Given the description of an element on the screen output the (x, y) to click on. 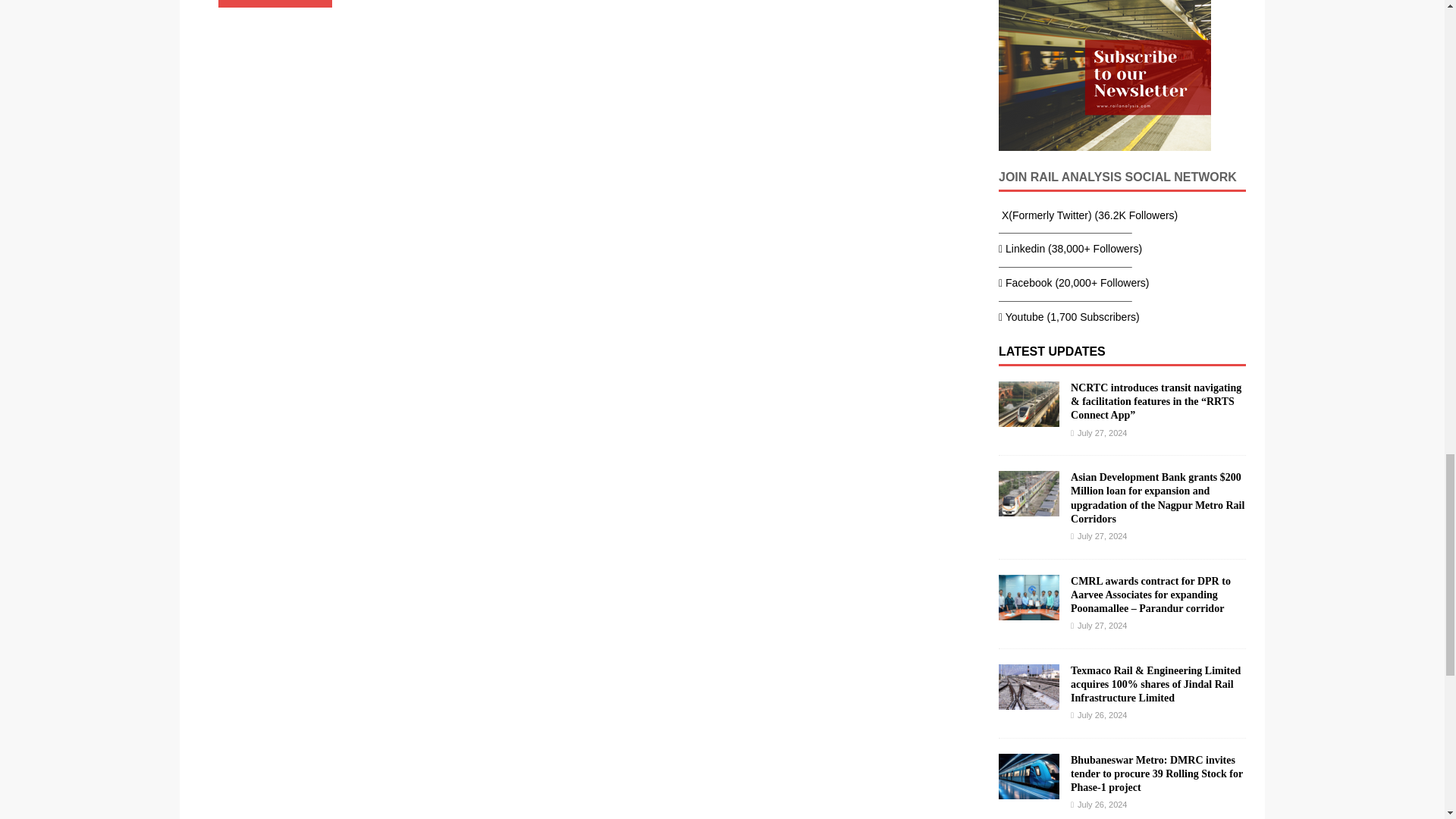
Post Comment (274, 3)
